Given the description of an element on the screen output the (x, y) to click on. 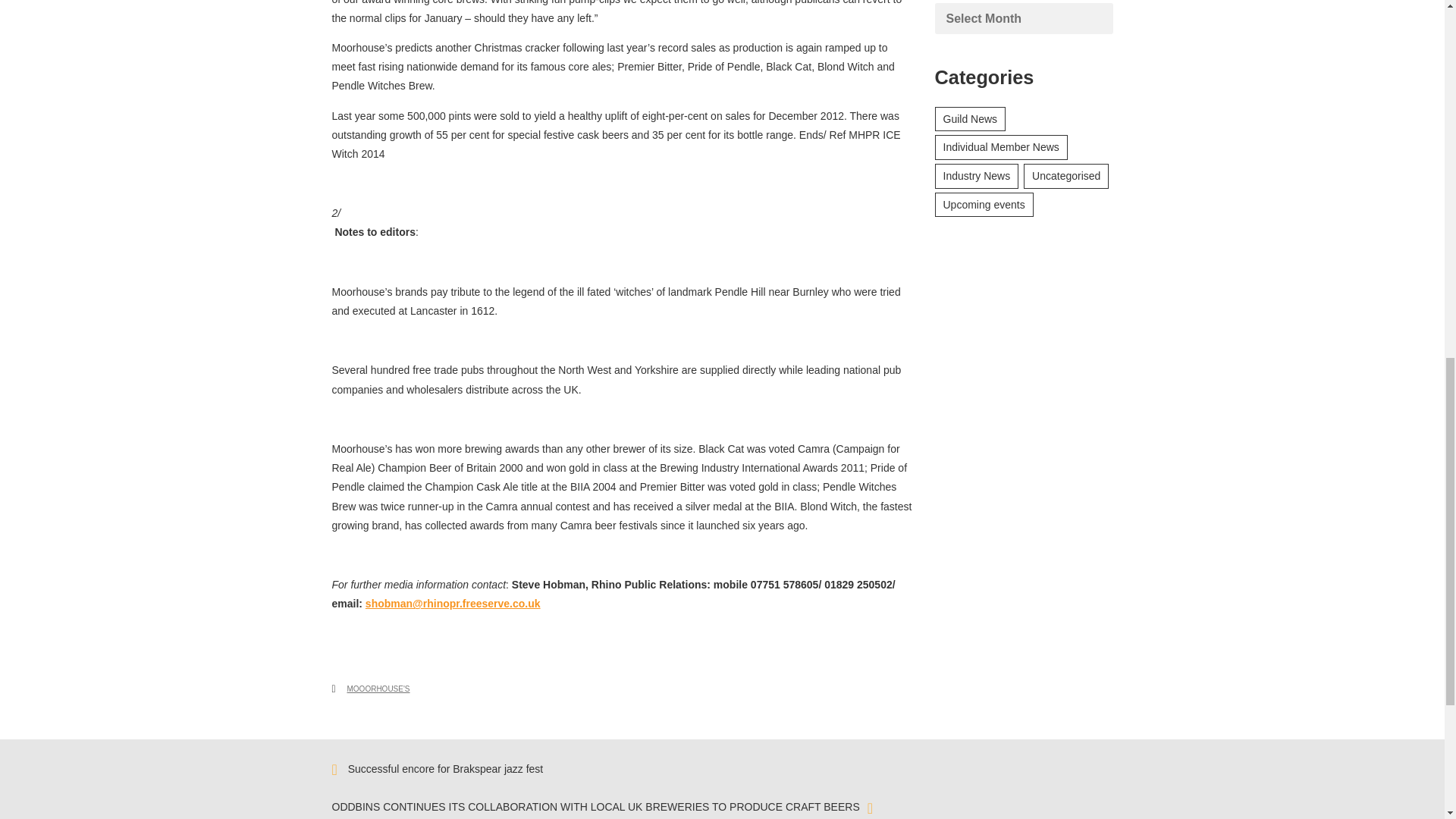
MOOORHOUSE'S (378, 688)
